Given the description of an element on the screen output the (x, y) to click on. 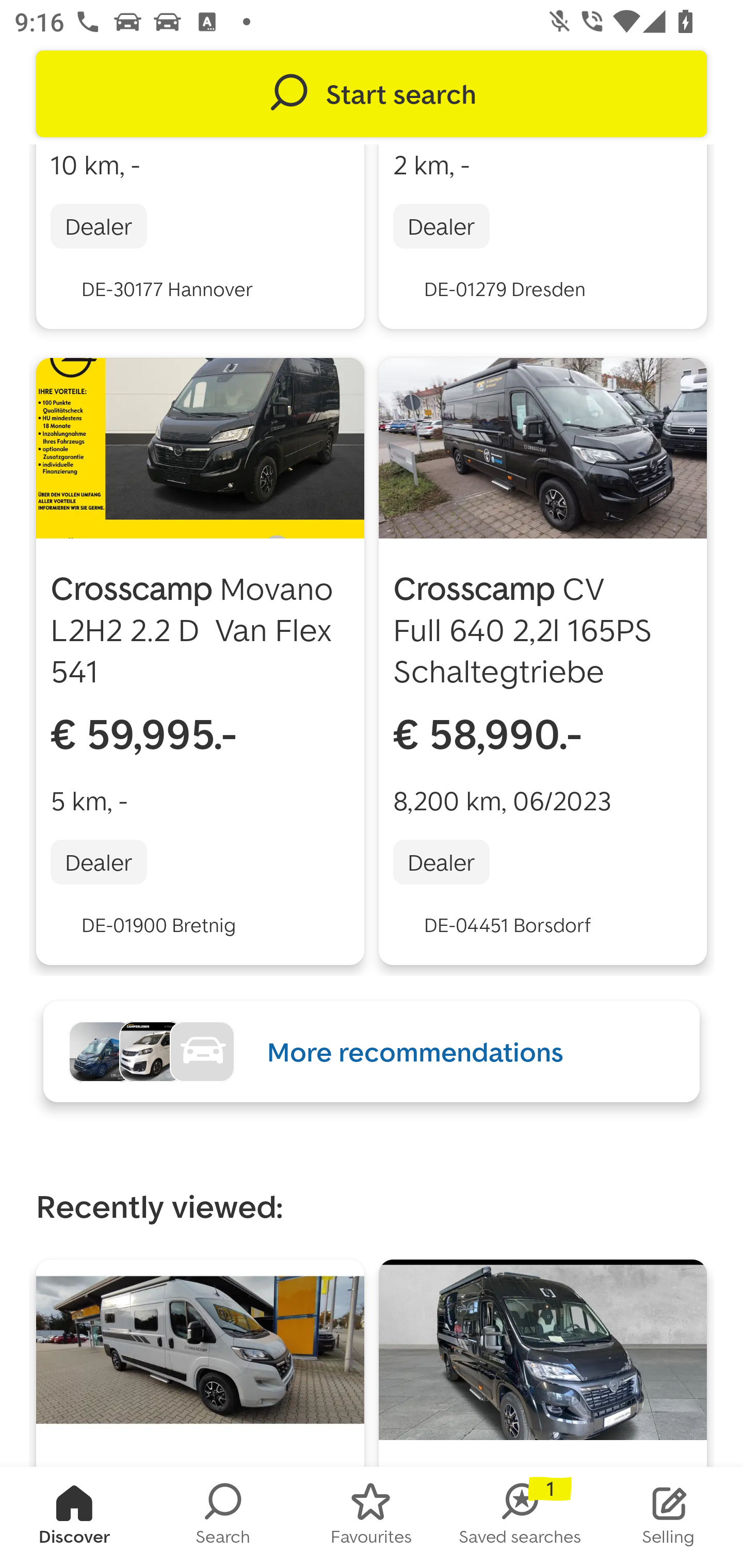
Start search (371, 93)
More recommendations (371, 1051)
HOMESCREEN Discover (74, 1517)
SEARCH Search (222, 1517)
FAVORITES Favourites (371, 1517)
SAVED_SEARCHES Saved searches 1 (519, 1517)
STOCK_LIST Selling (668, 1517)
